Given the description of an element on the screen output the (x, y) to click on. 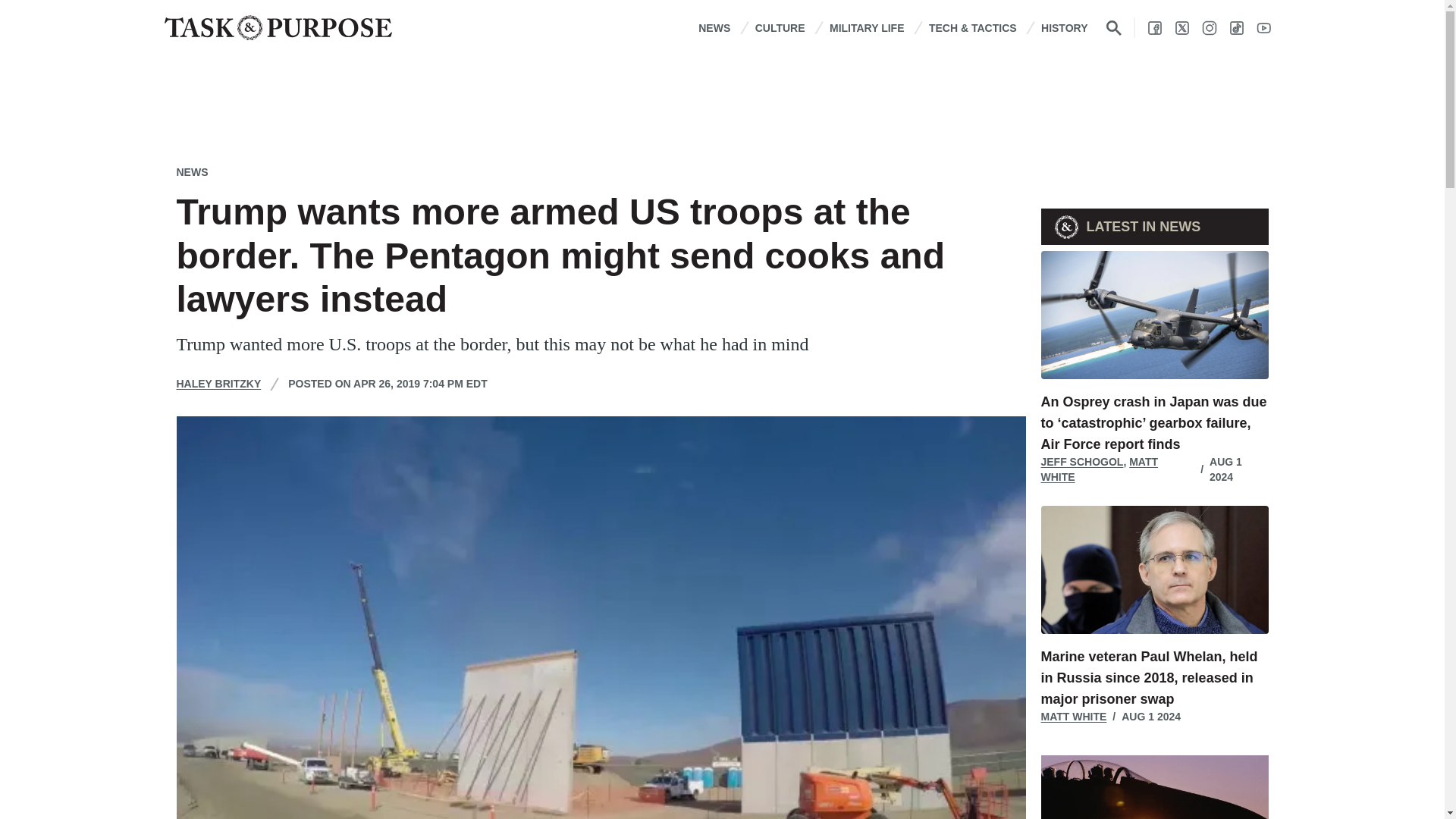
NEWS (714, 27)
MILITARY LIFE (866, 27)
CULTURE (780, 27)
